Given the description of an element on the screen output the (x, y) to click on. 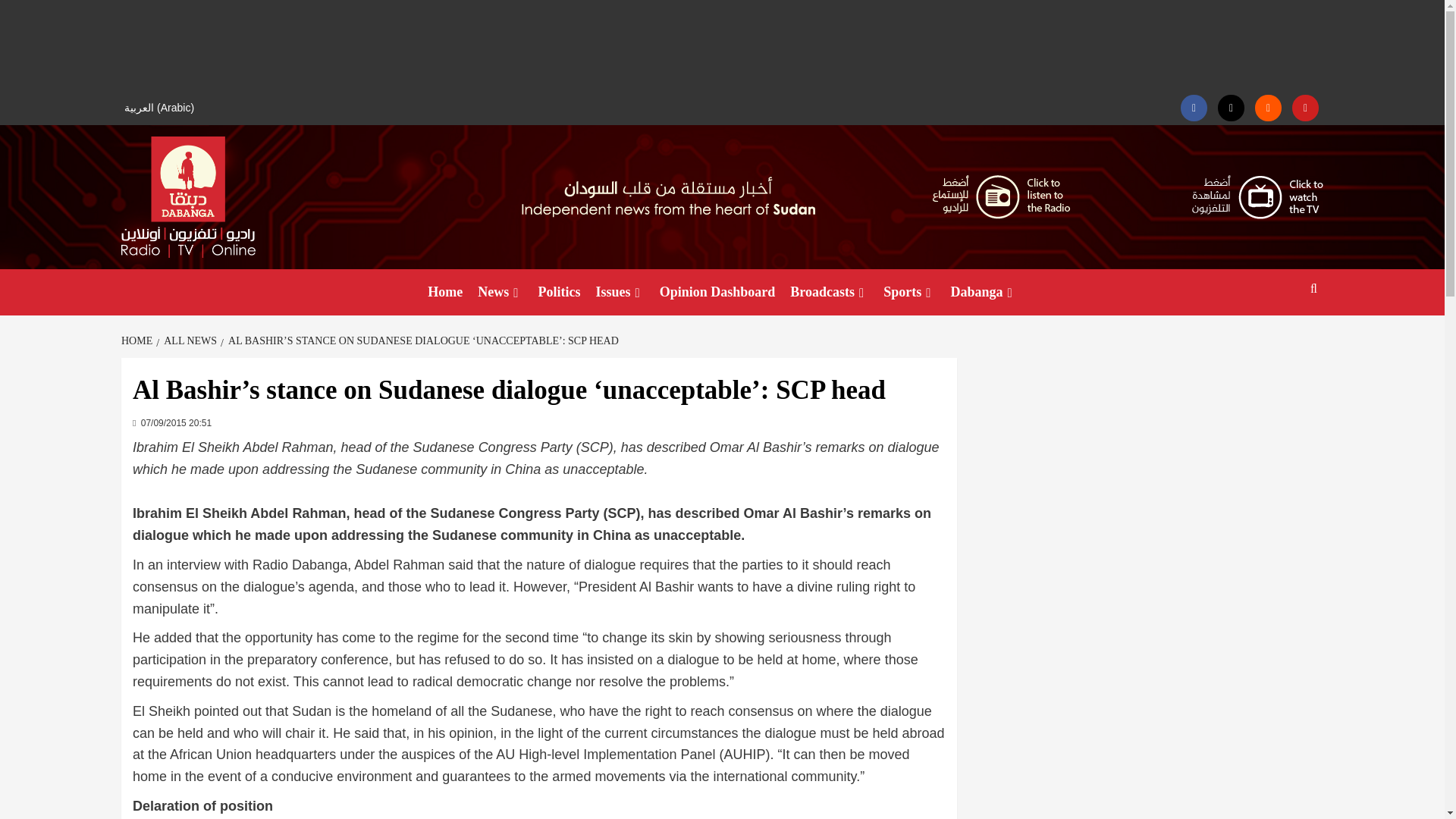
Soundcloud (1268, 108)
News (499, 292)
Home (445, 292)
Sports (909, 292)
Facebook (1193, 108)
Arabic (161, 107)
Advertisement (722, 45)
Politics (559, 292)
Broadcasts (829, 292)
Opinion Dashboard (717, 292)
